Given the description of an element on the screen output the (x, y) to click on. 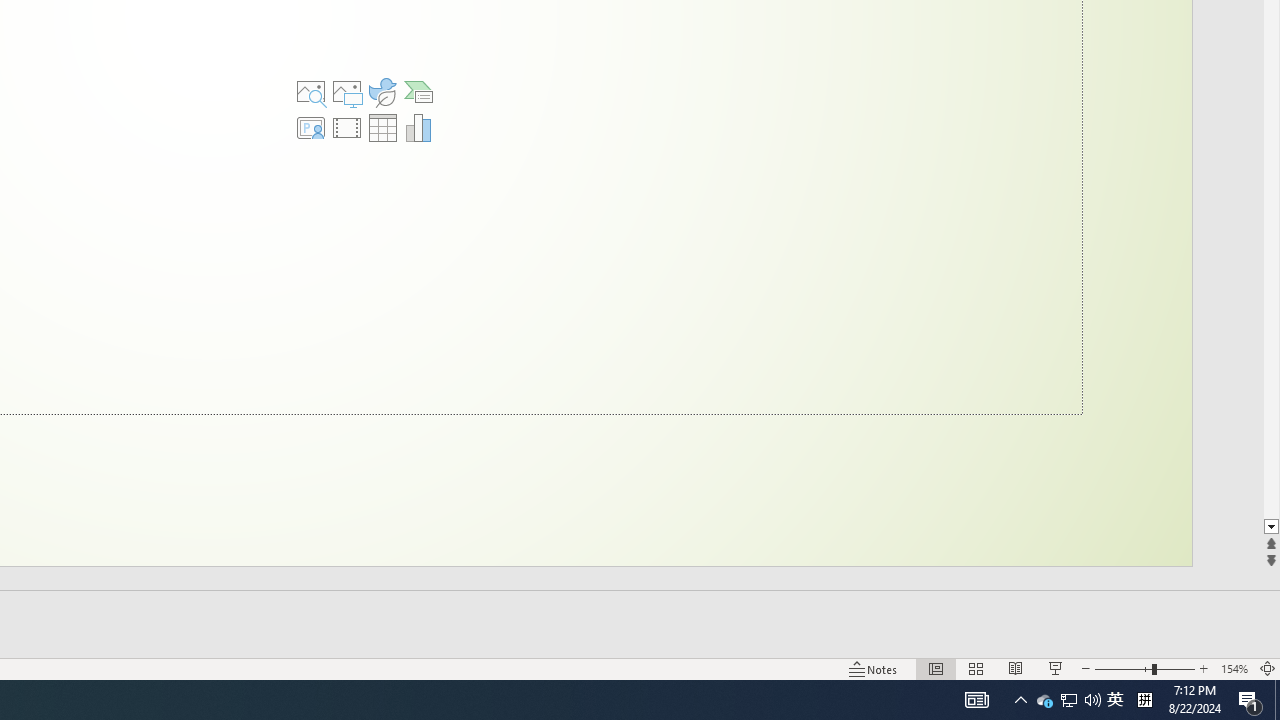
Insert Cameo (310, 128)
Insert Table (383, 128)
Insert a SmartArt Graphic (419, 92)
Stock Images (310, 92)
Zoom 154% (1234, 668)
Insert an Icon (383, 92)
